Given the description of an element on the screen output the (x, y) to click on. 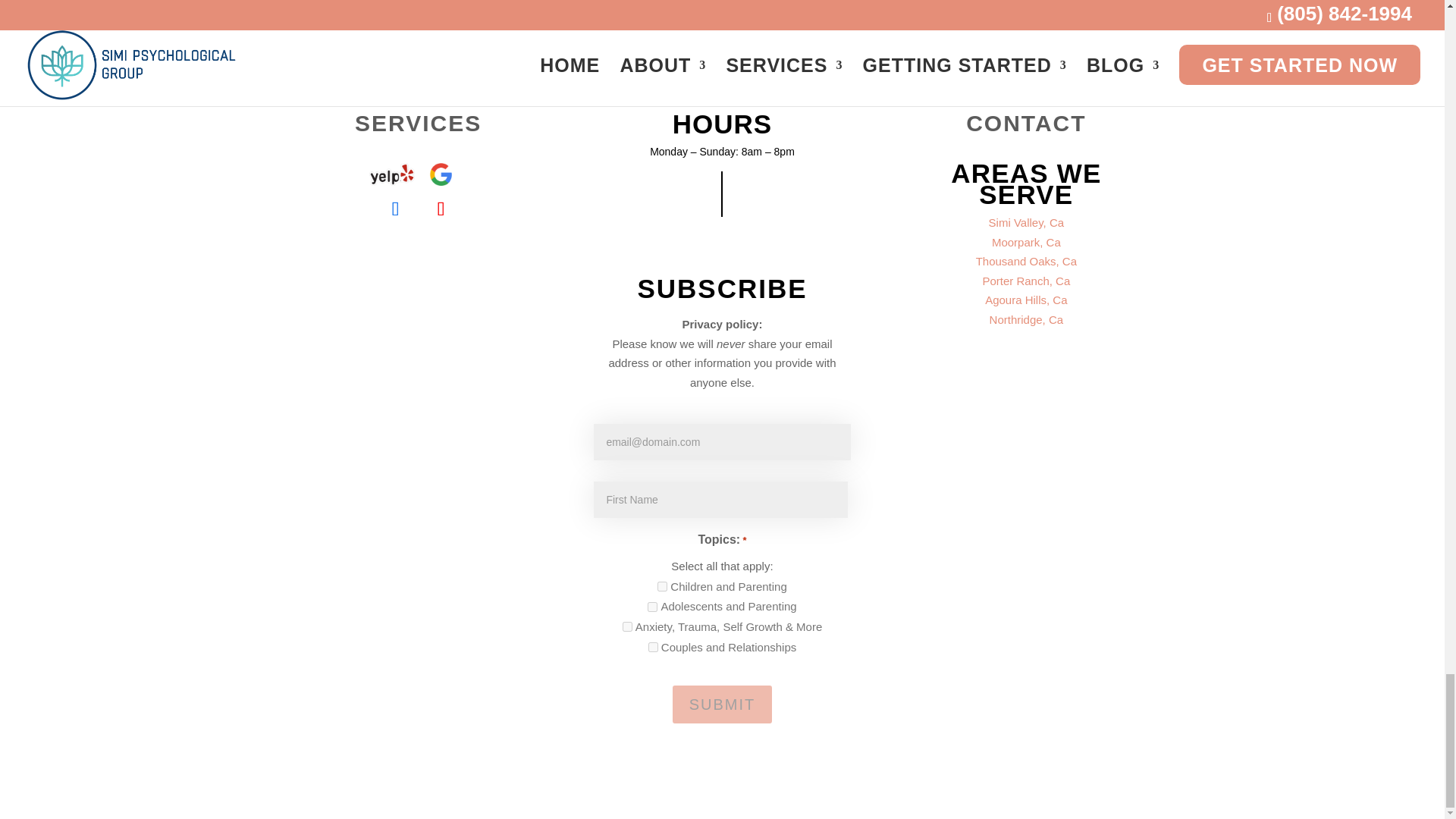
Submit (722, 704)
Couples and Relationships (652, 646)
Follow on Youtube (441, 209)
Children and Parenting (662, 586)
Adolescents and Parenting (652, 606)
Follow on Facebook (394, 209)
